Given the description of an element on the screen output the (x, y) to click on. 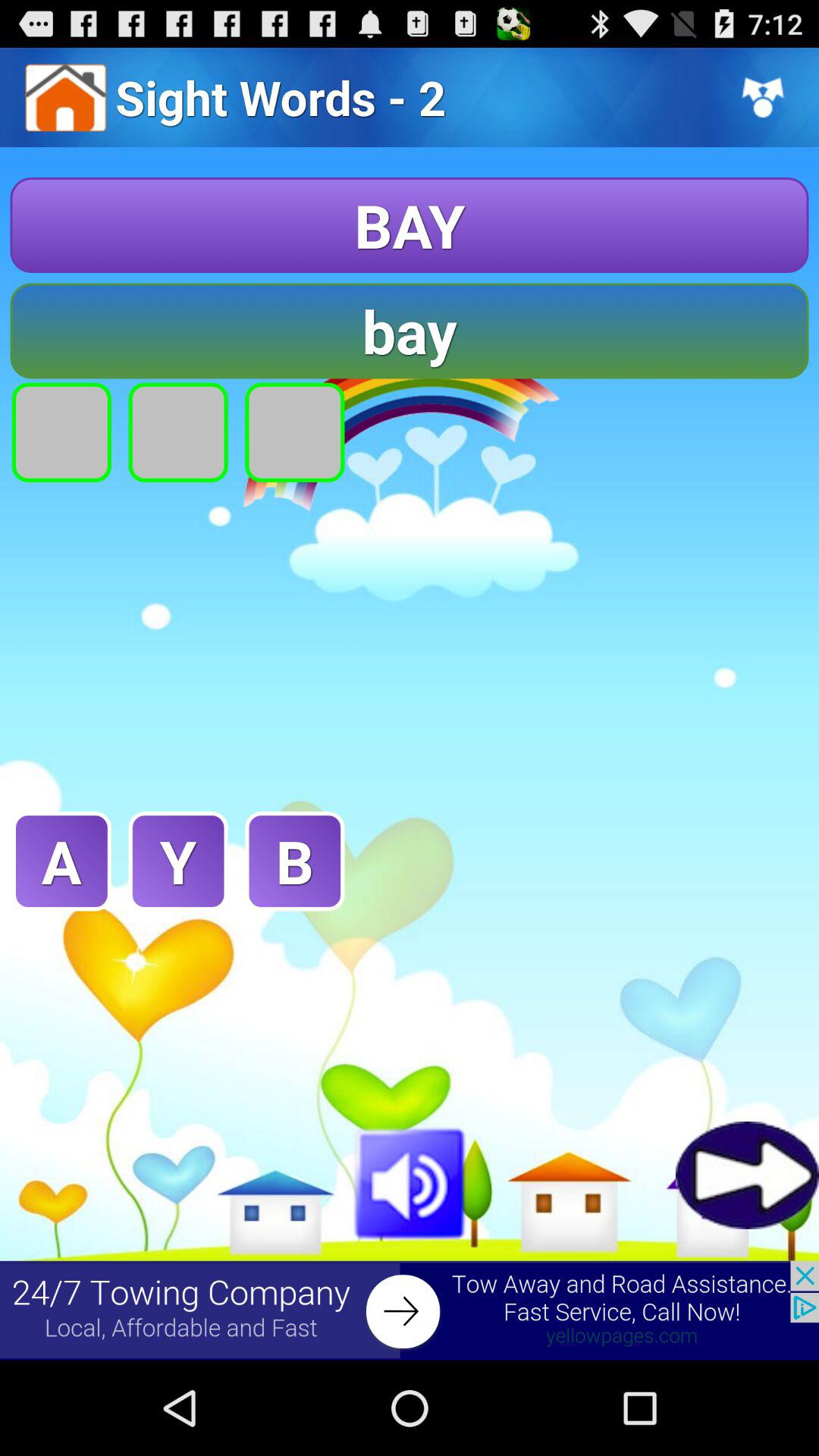
advertisement link (409, 1310)
